Given the description of an element on the screen output the (x, y) to click on. 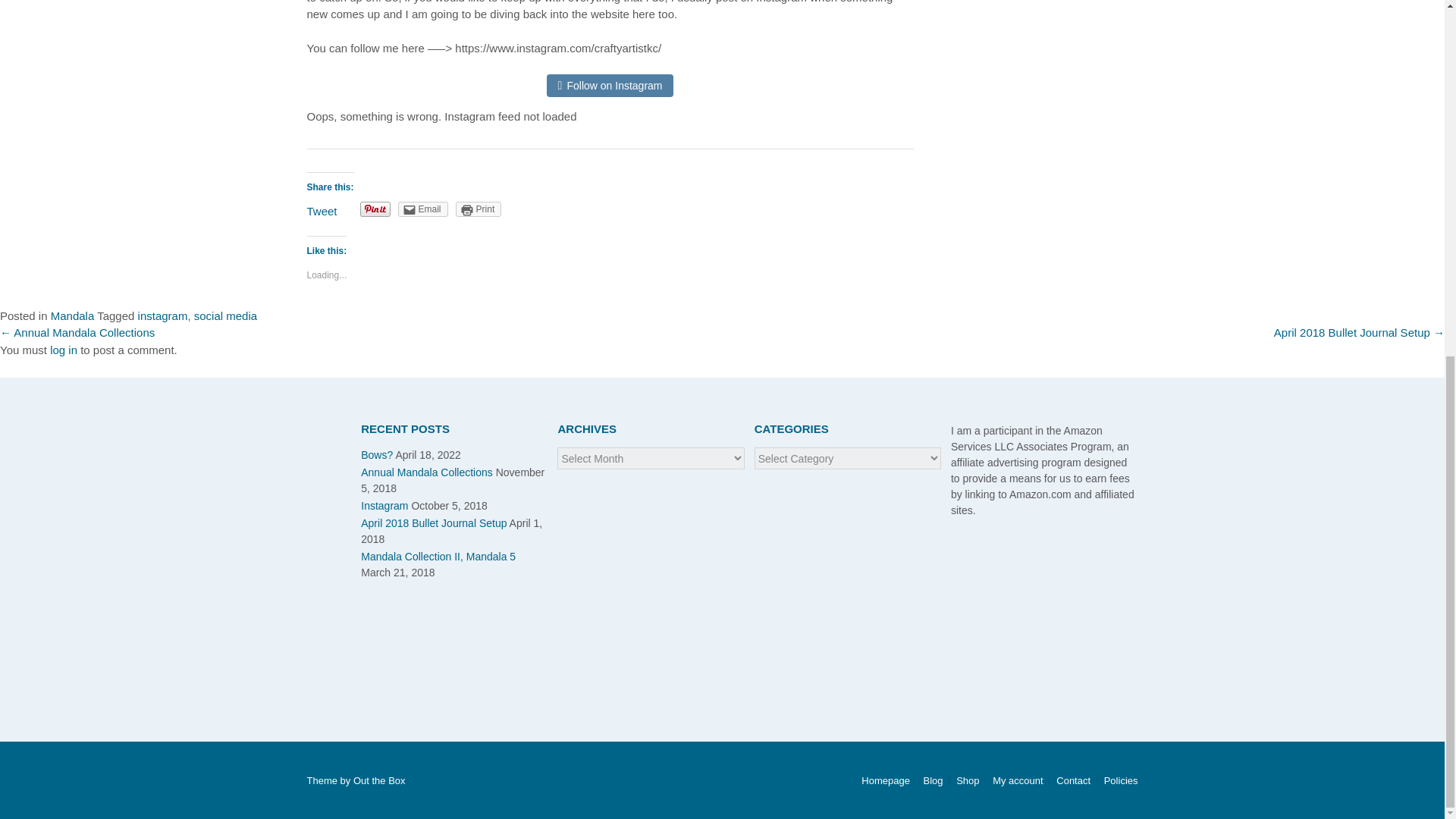
Click to email a link to a friend (422, 209)
Email (422, 209)
Tweet (320, 210)
Print (478, 209)
Click to print (478, 209)
Follow on Instagram (614, 85)
Search for: (156, 424)
Mandala (72, 315)
